Given the description of an element on the screen output the (x, y) to click on. 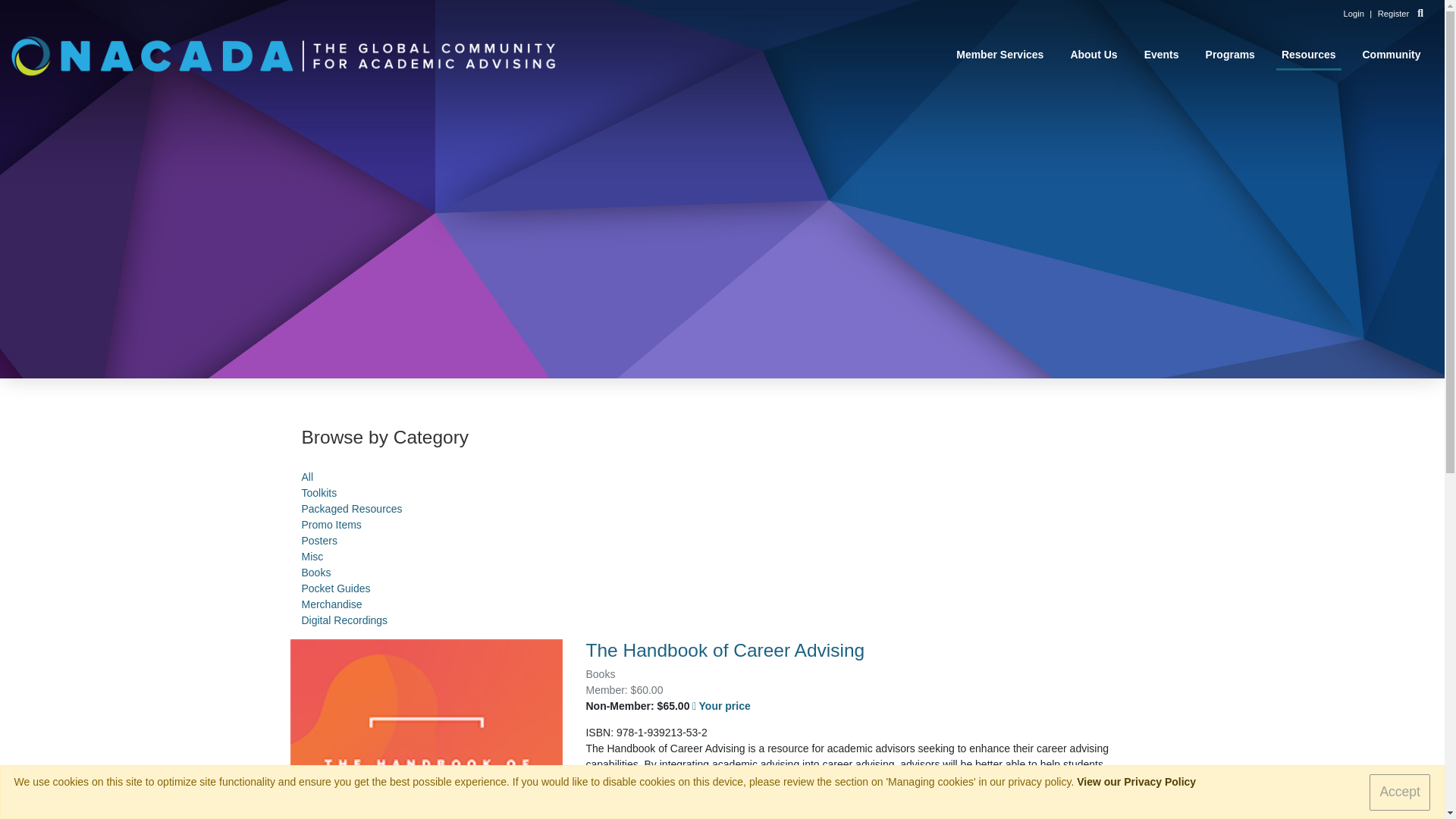
Member Services (999, 54)
Posters (319, 540)
Login (1353, 13)
Promo Items (331, 524)
Programs (1229, 54)
About Us (1093, 54)
Community (1391, 54)
Resources (1308, 54)
Register (1393, 13)
Pocket Guides (336, 588)
